Given the description of an element on the screen output the (x, y) to click on. 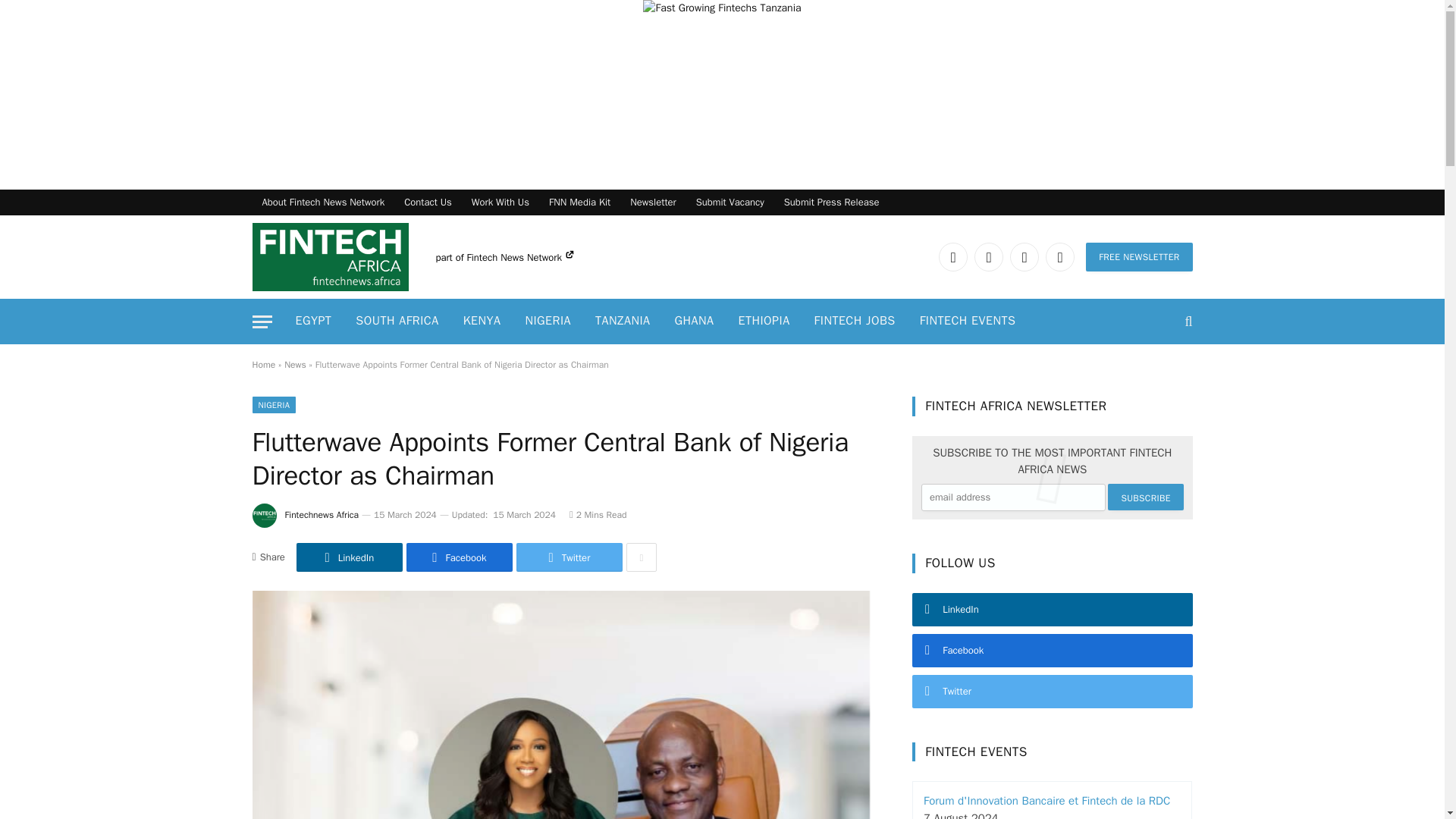
SOUTH AFRICA (396, 320)
Work With Us (499, 201)
Newsletter (652, 201)
Posts by Fintechnews Africa (322, 514)
KENYA (482, 320)
GHANA (694, 320)
RSS (1059, 256)
NIGERIA (547, 320)
Show More Social Sharing (641, 556)
Subscribe (1145, 497)
FREE NEWSLETTER (1139, 256)
Contact Us (427, 201)
Submit Press Release (831, 201)
Submit Vacancy (729, 201)
